Given the description of an element on the screen output the (x, y) to click on. 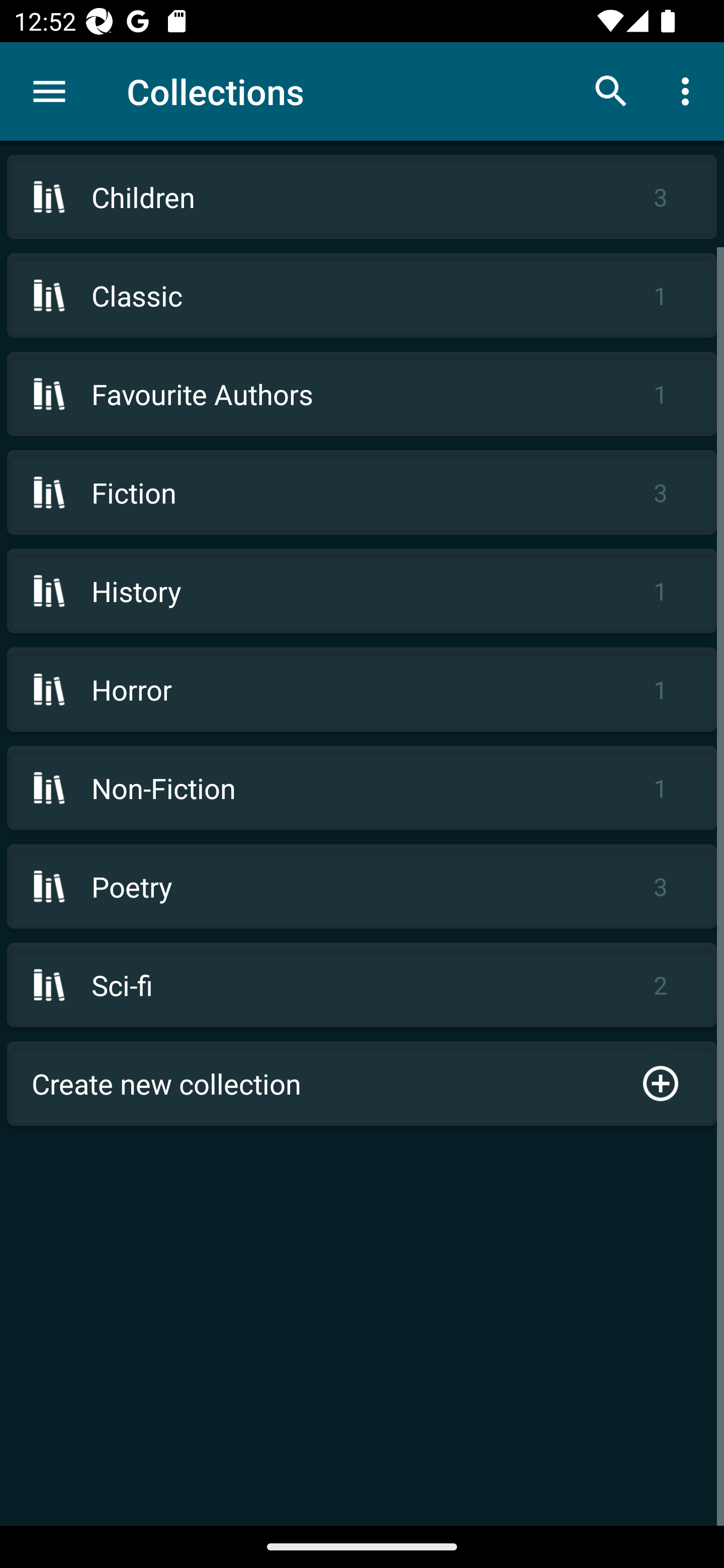
Menu (49, 91)
Search books & documents (611, 90)
More options (688, 90)
Children 3 (361, 197)
Classic 1 (361, 295)
Favourite Authors 1 (361, 393)
Fiction 3 (361, 492)
History 1 (361, 590)
Horror 1 (361, 689)
Non-Fiction 1 (361, 787)
Poetry 3 (361, 885)
Sci-fi 2 (361, 984)
Create new collection (361, 1083)
